Given the description of an element on the screen output the (x, y) to click on. 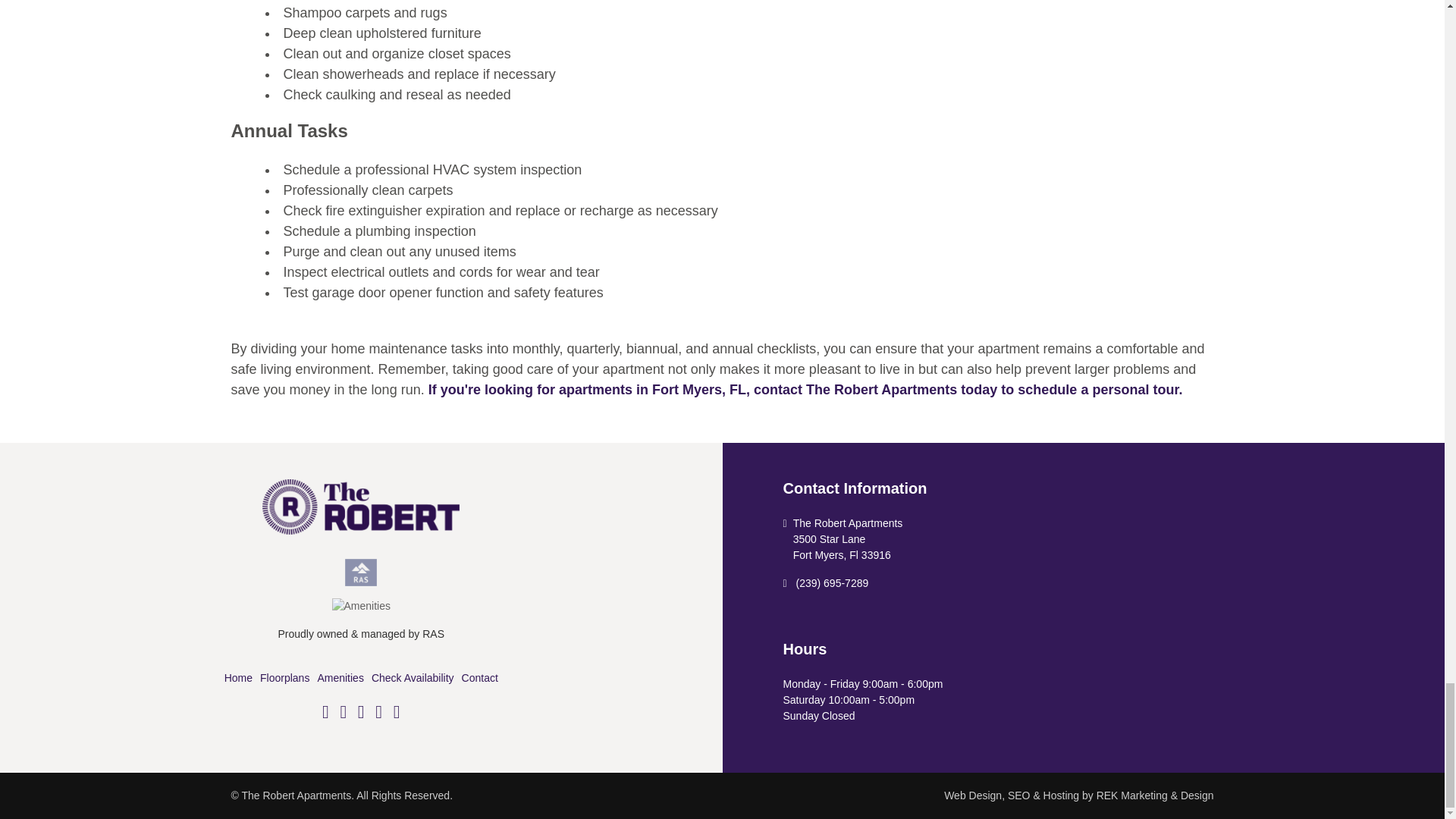
Amenities (339, 677)
Check Availability (413, 677)
Floorplans (284, 677)
Home (240, 677)
Contact (477, 677)
